Given the description of an element on the screen output the (x, y) to click on. 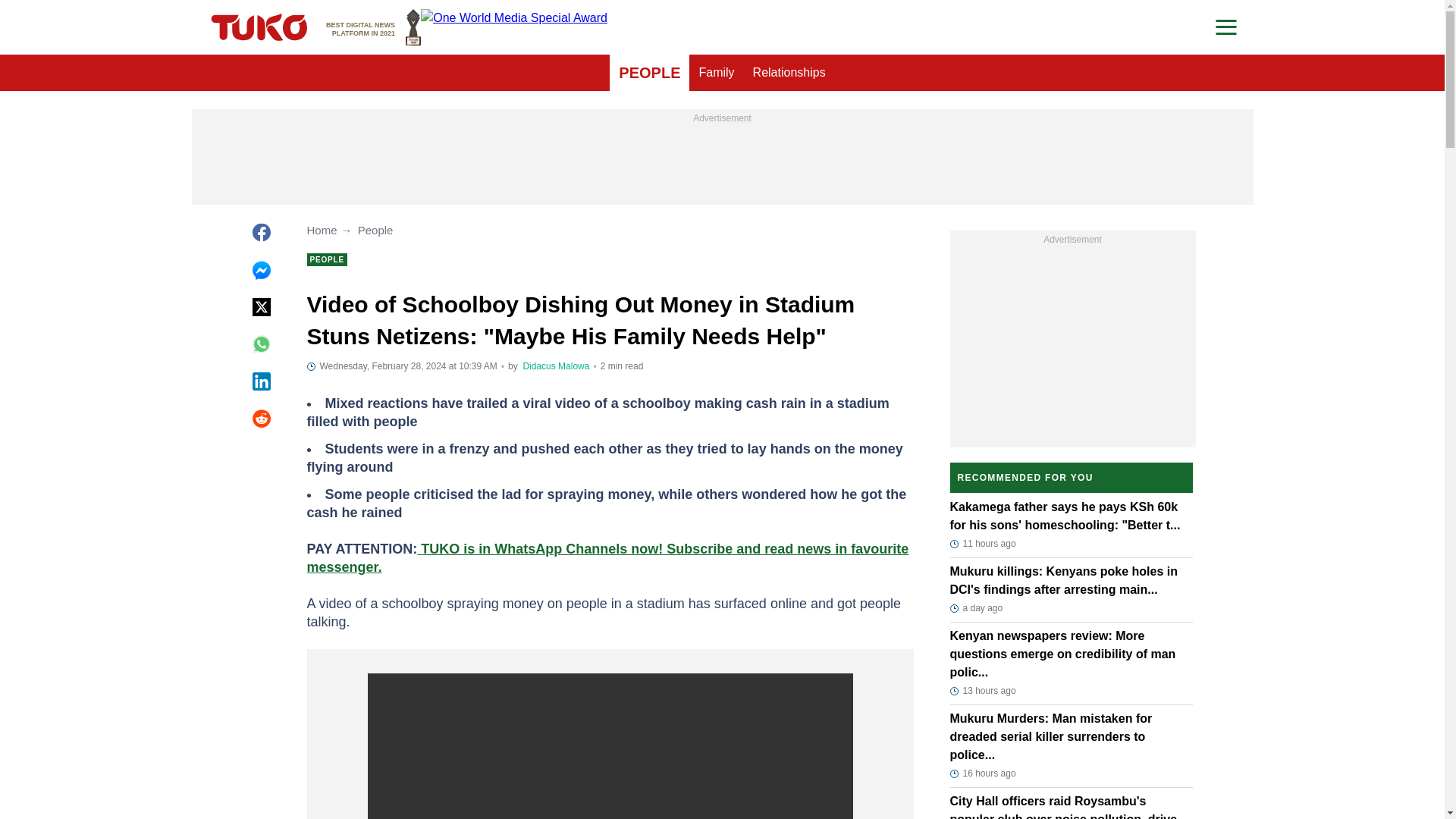
Author page (555, 366)
Relationships (373, 27)
PEOPLE (789, 72)
Family (649, 72)
